Given the description of an element on the screen output the (x, y) to click on. 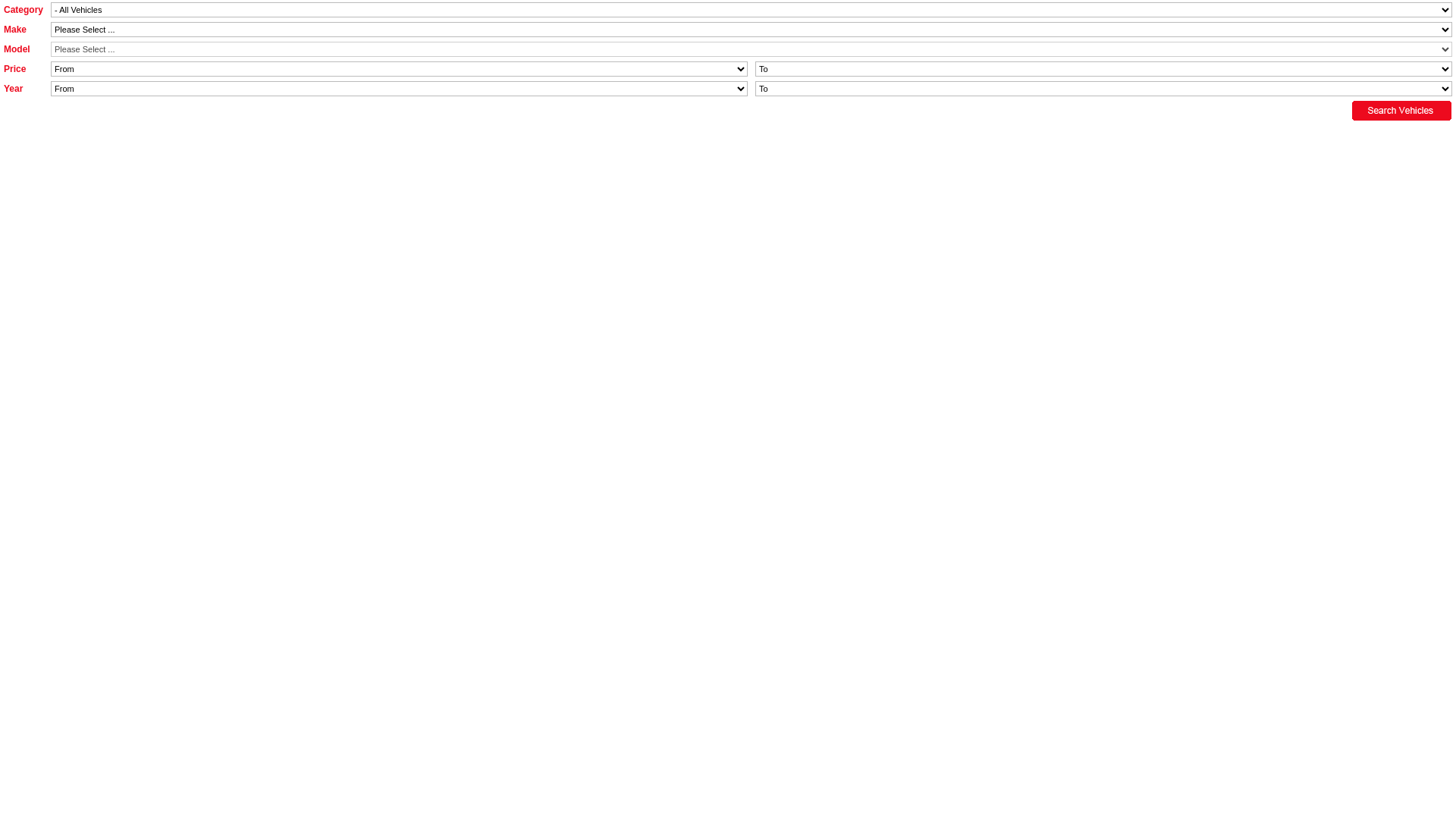
Search Element type: text (21, 7)
Search! Element type: hover (1402, 110)
